Given the description of an element on the screen output the (x, y) to click on. 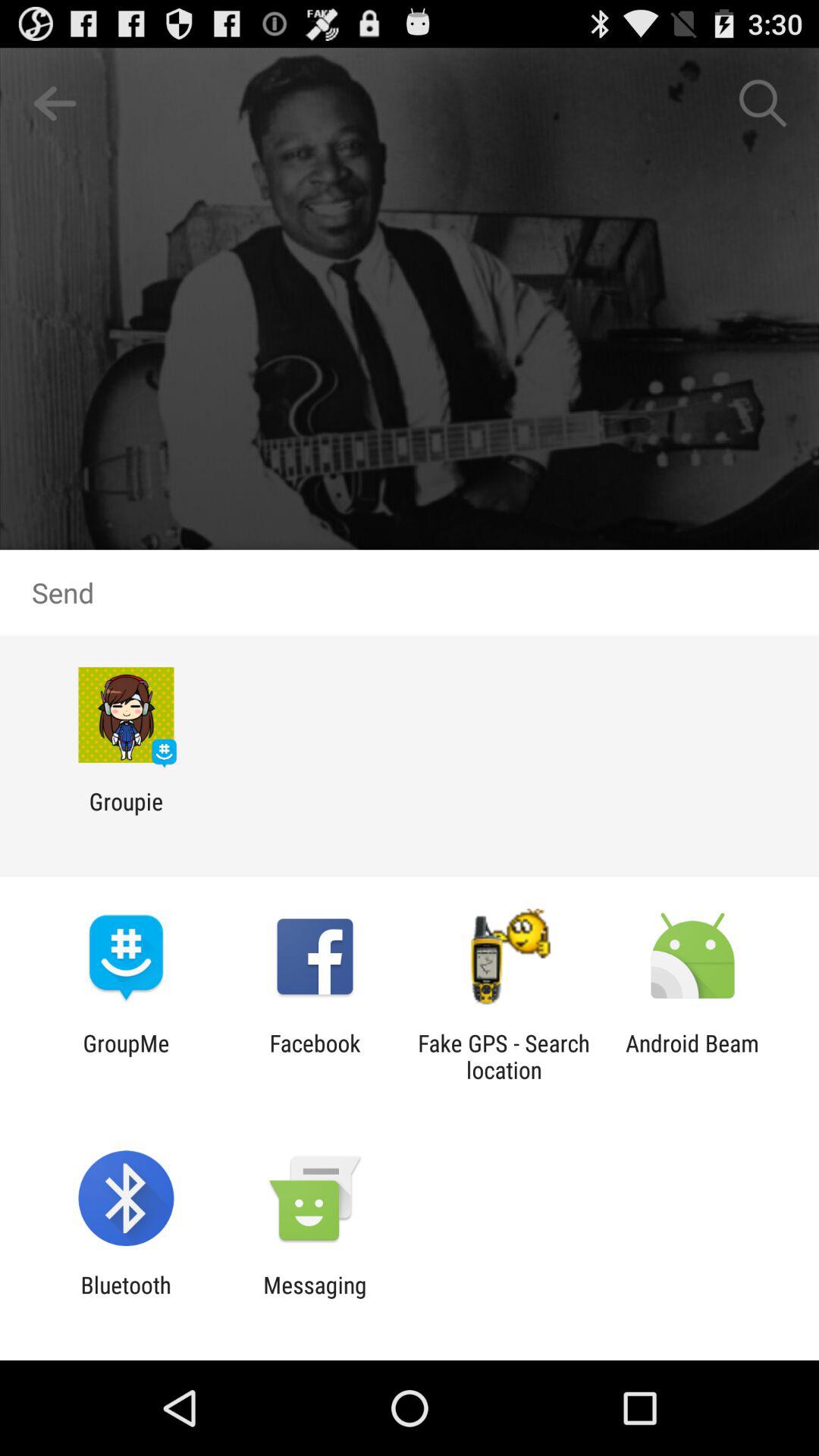
tap the app at the bottom right corner (692, 1056)
